Given the description of an element on the screen output the (x, y) to click on. 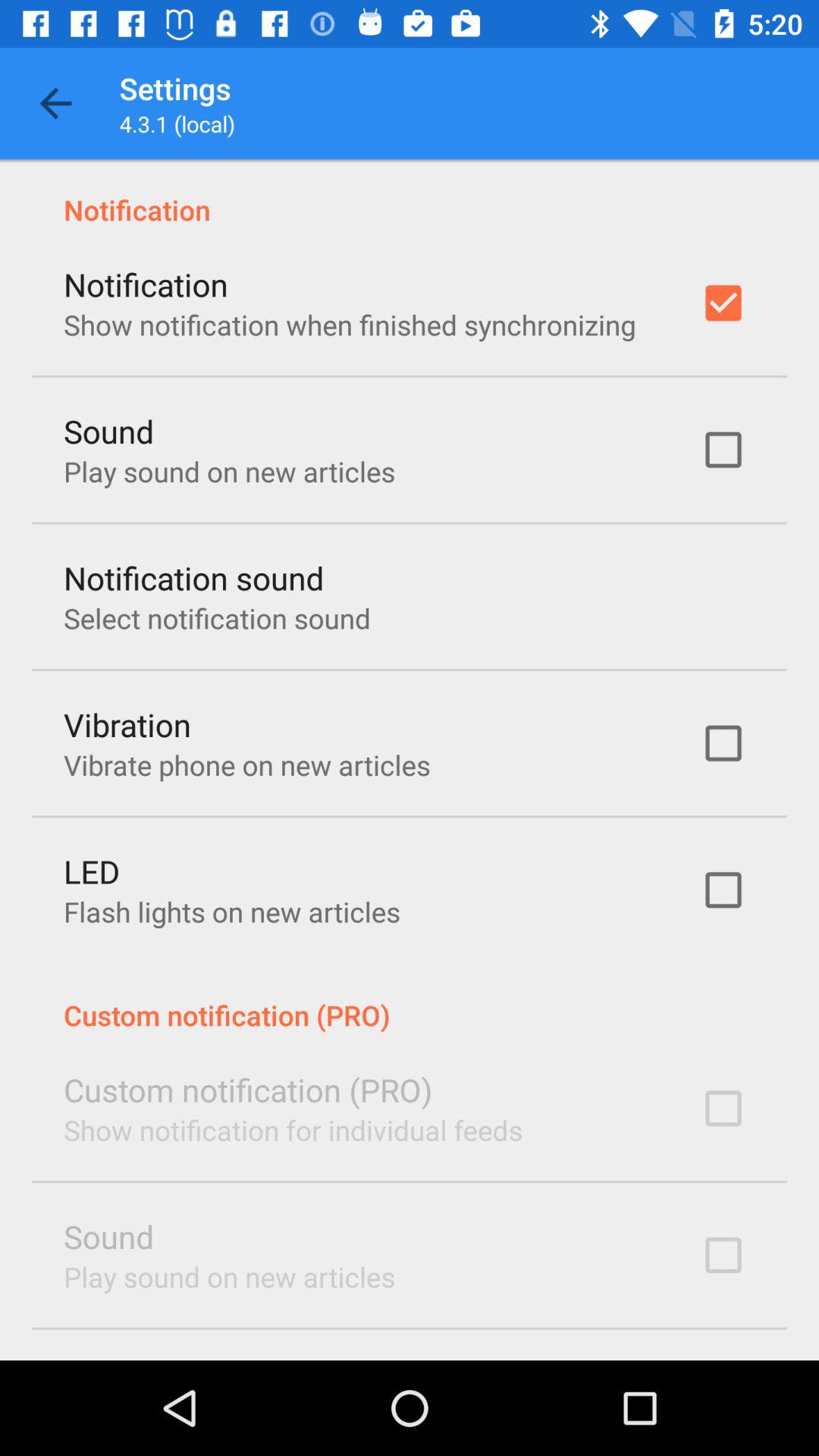
open the app to the left of the settings app (55, 103)
